Given the description of an element on the screen output the (x, y) to click on. 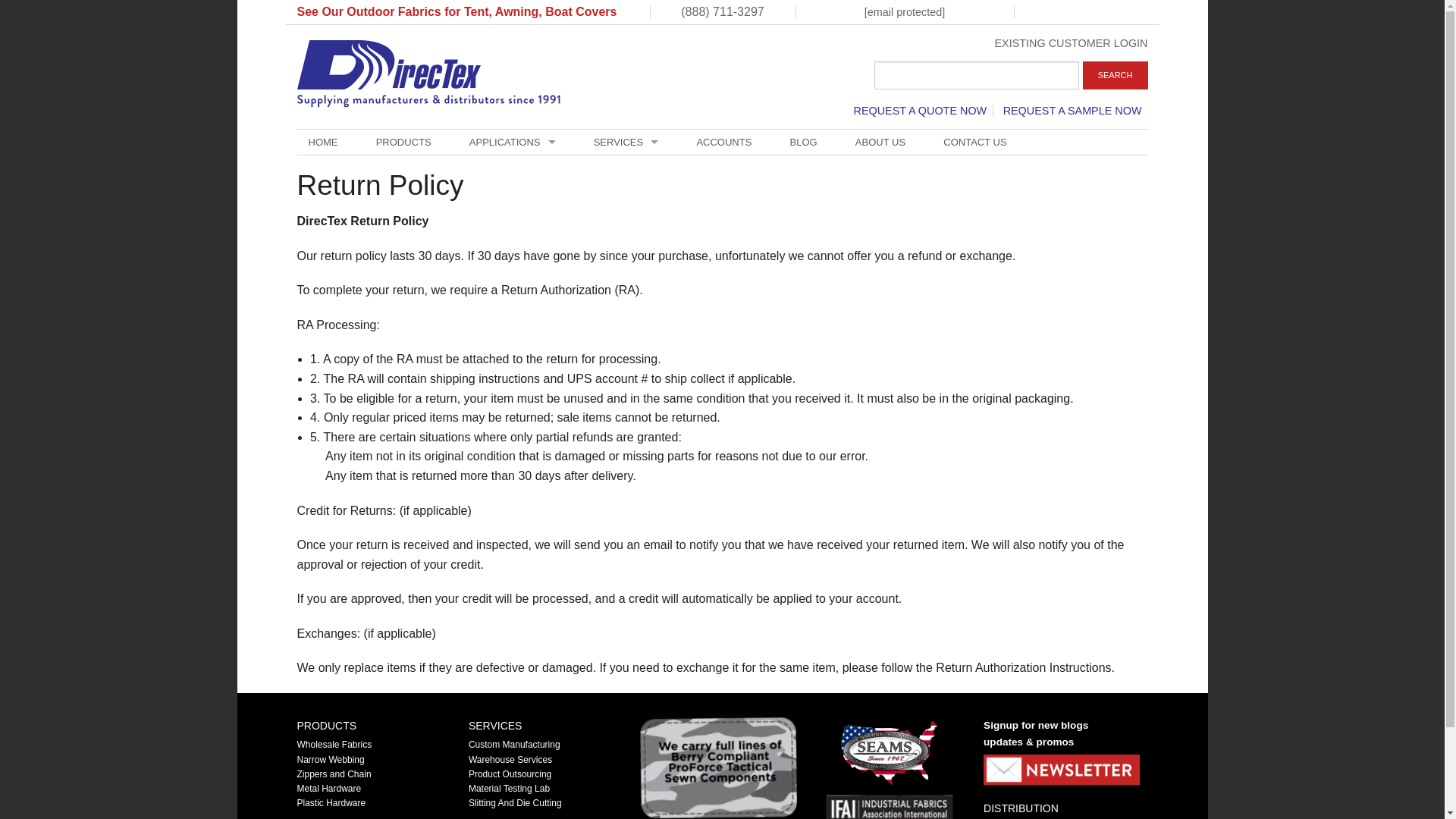
APPLICATIONS (512, 141)
See Our Outdoor Fabrics for Tent, Awning, Boat Covers (457, 11)
SERVICES (625, 141)
HOME (323, 141)
search (976, 75)
EXISTING CUSTOMER LOGIN (1070, 42)
SEARCH (1115, 75)
PRODUCTS (403, 141)
REQUEST A SAMPLE NOW (1072, 110)
SEARCH (1115, 75)
